Given the description of an element on the screen output the (x, y) to click on. 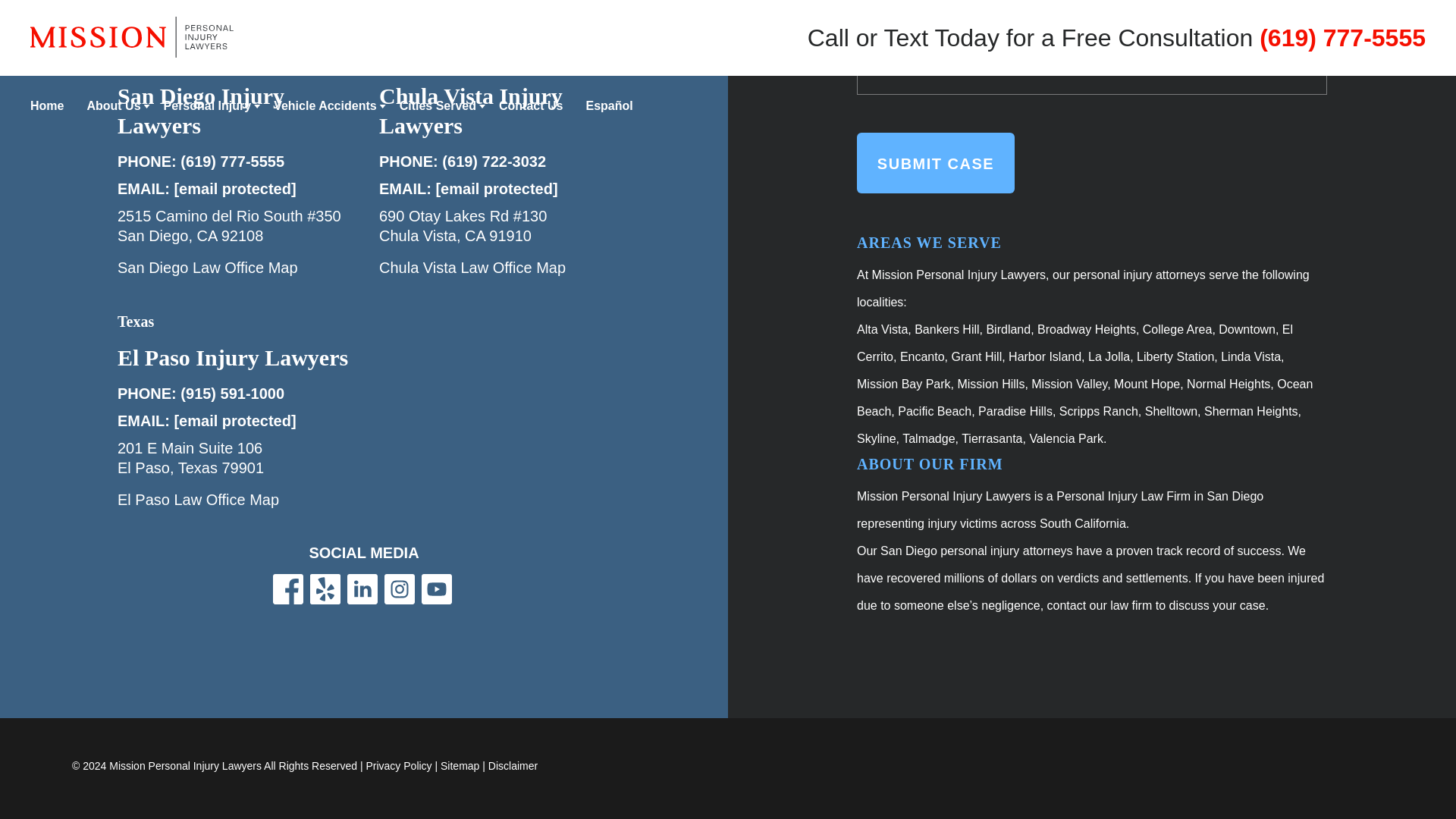
Submit Case (935, 162)
